Given the description of an element on the screen output the (x, y) to click on. 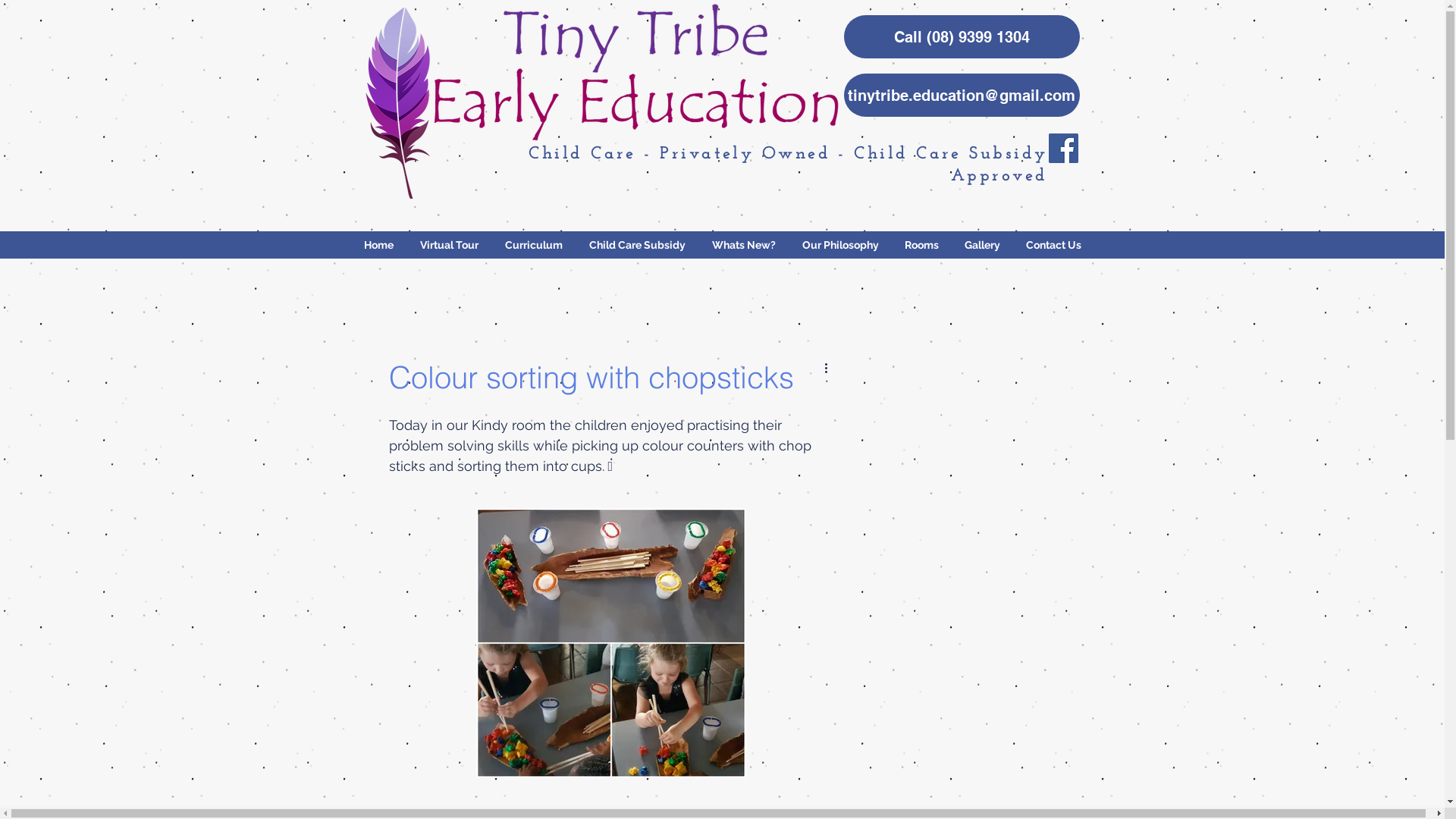
Home Element type: text (378, 244)
Rooms Element type: text (921, 244)
Whats New? Element type: text (744, 244)
tinytribe.education@gmail.com Element type: text (961, 94)
Our Philosophy Element type: text (839, 244)
Call (08) 9399 1304 Element type: text (961, 36)
Contact Us Element type: text (1053, 244)
Child Care Subsidy Element type: text (637, 244)
Curriculum Element type: text (533, 244)
Gallery Element type: text (981, 244)
Virtual Tour Element type: text (448, 244)
